Given the description of an element on the screen output the (x, y) to click on. 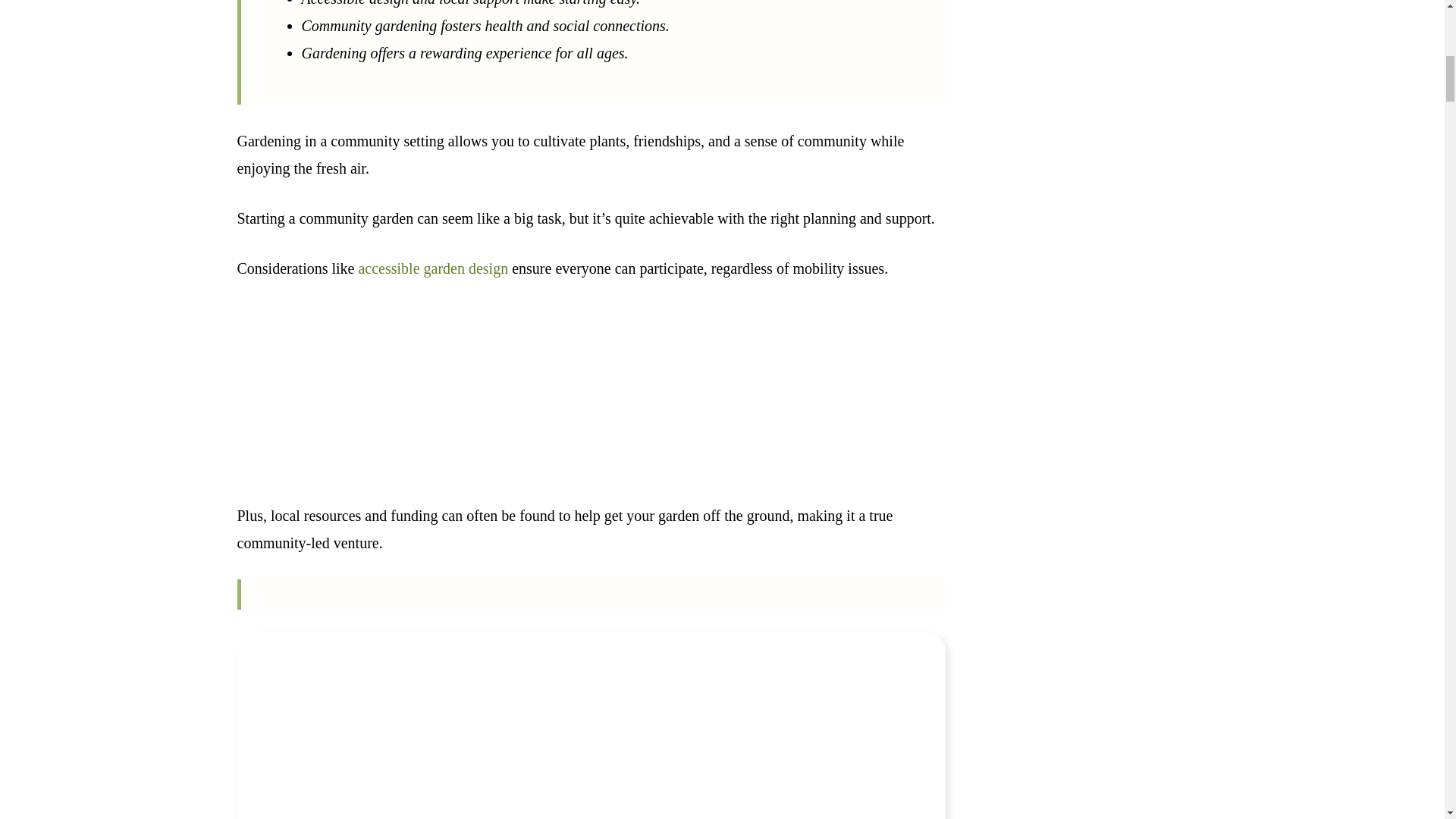
accessible garden design (433, 268)
Scroll back to top (1406, 720)
